Given the description of an element on the screen output the (x, y) to click on. 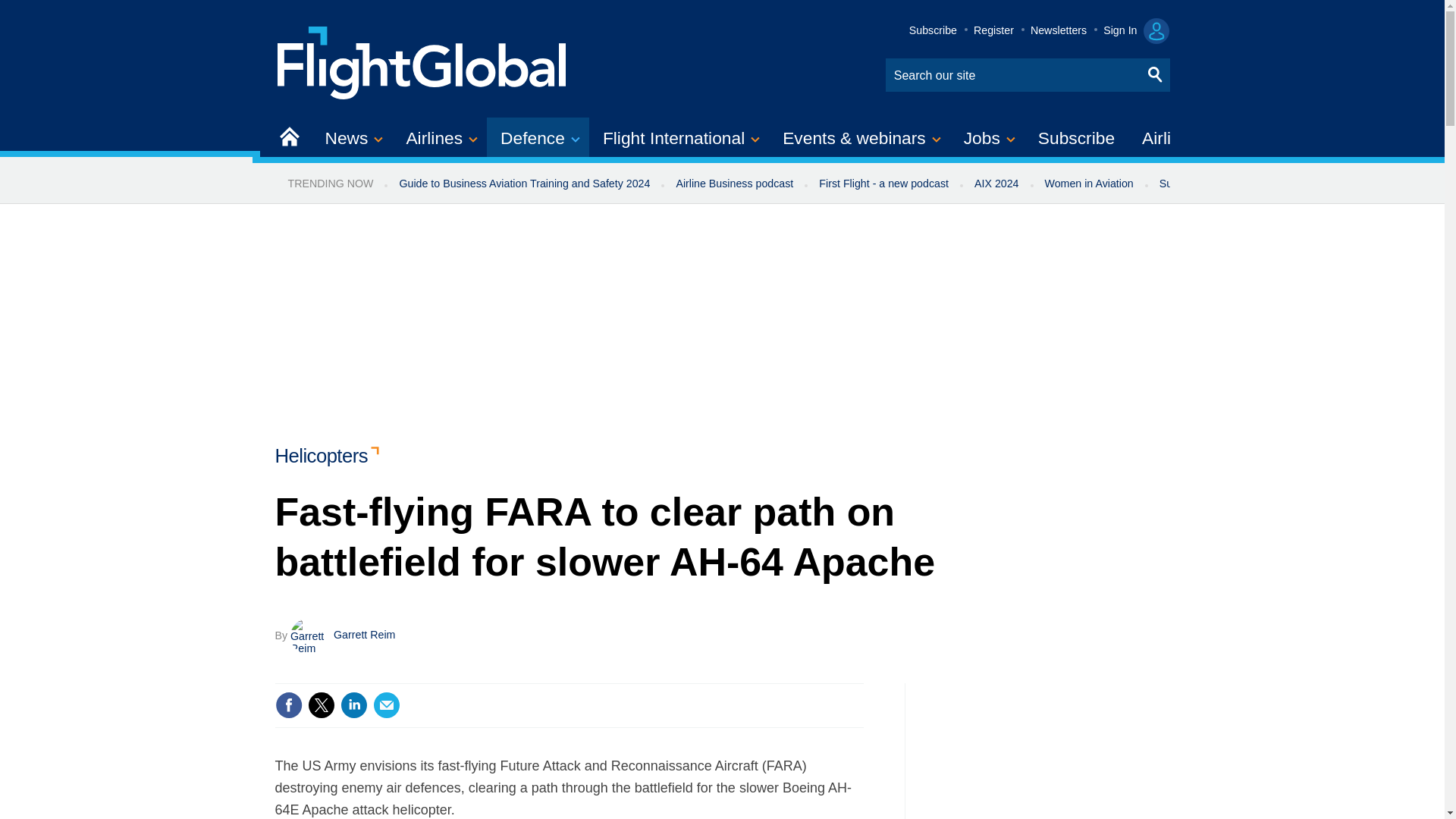
Sustainable Aviation newsletter (1234, 183)
Women in Aviation (1089, 183)
Share this on Facebook (288, 705)
Share this on Linked in (352, 705)
Airline Business podcast (734, 183)
First Flight - a new podcast (883, 183)
Share this on Twitter (320, 705)
Email this article (386, 705)
AIX 2024 (996, 183)
Site name (422, 60)
Guide to Business Aviation Training and Safety 2024 (523, 183)
